Given the description of an element on the screen output the (x, y) to click on. 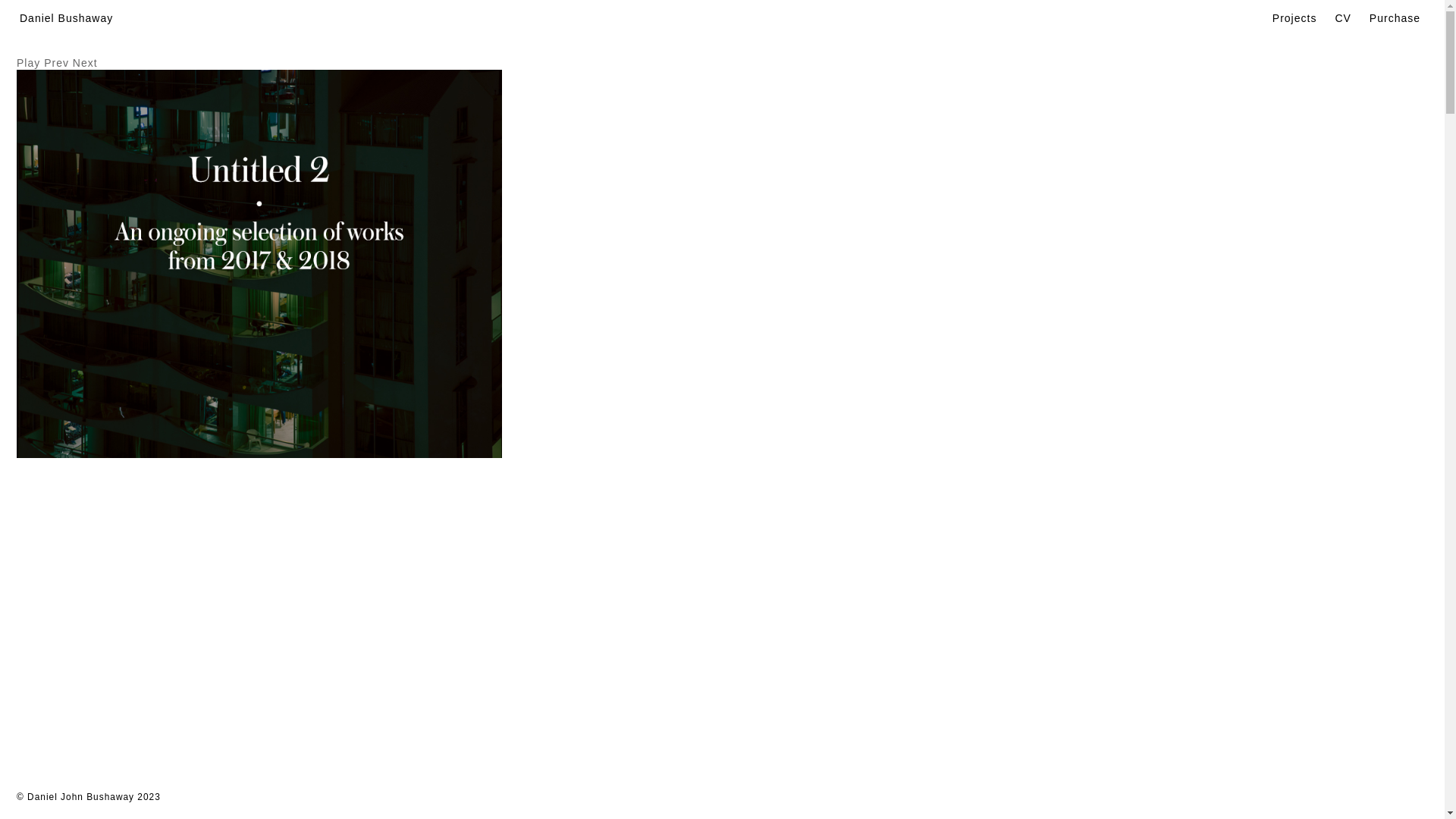
Play Element type: text (28, 62)
Next Element type: text (84, 62)
Purchase Element type: text (1394, 17)
Projects Element type: text (1294, 17)
Prev Element type: text (56, 62)
Daniel Bushaway Element type: text (66, 17)
CV Element type: text (1342, 17)
